Given the description of an element on the screen output the (x, y) to click on. 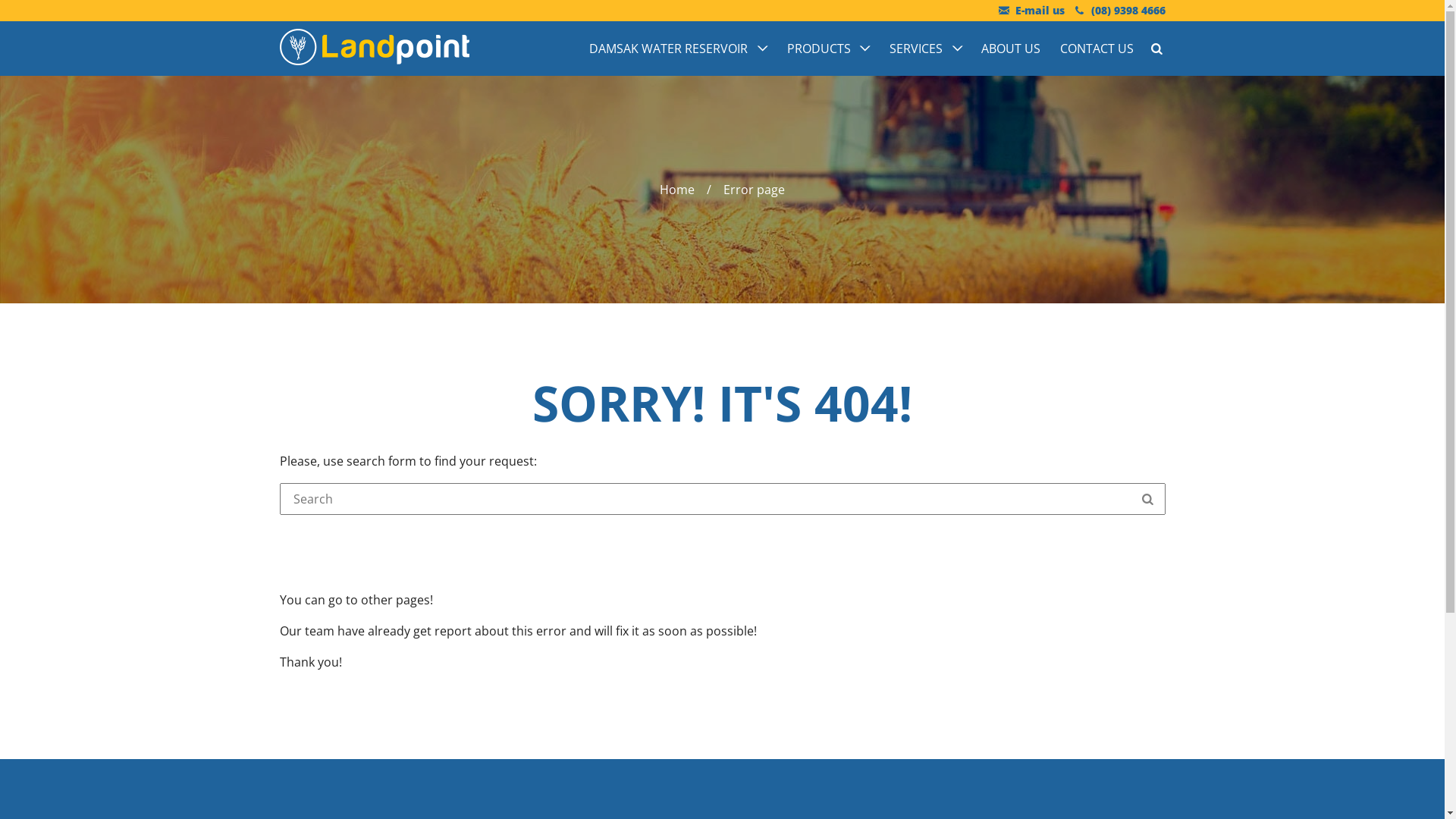
CONTACT US Element type: text (1091, 48)
E-mail us Element type: text (1030, 10)
SERVICES Element type: text (925, 48)
(08) 9398 4666 Element type: text (1118, 10)
DAMSAK WATER RESERVOIR Element type: text (677, 48)
ABOUT US Element type: text (1011, 48)
PRODUCTS Element type: text (828, 48)
Home Element type: text (676, 189)
